Given the description of an element on the screen output the (x, y) to click on. 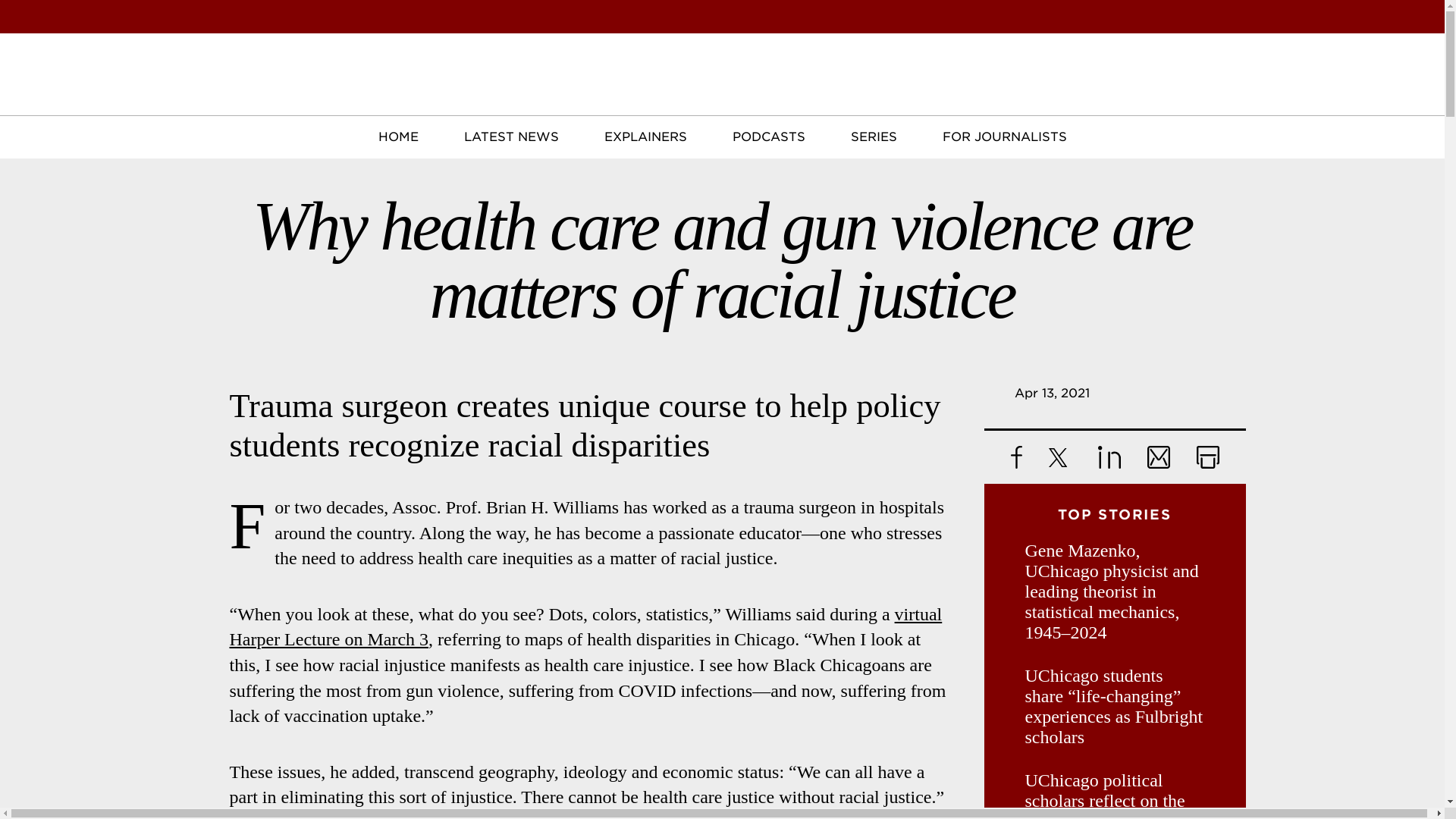
LinkedIn (1109, 456)
Print Content (1208, 456)
SERIES (873, 137)
The University of Chicago (106, 69)
FOR JOURNALISTS (1003, 137)
LATEST NEWS (511, 137)
X (1059, 456)
EXPLAINERS (644, 137)
Share as an Email (1158, 456)
HOME (397, 137)
